Given the description of an element on the screen output the (x, y) to click on. 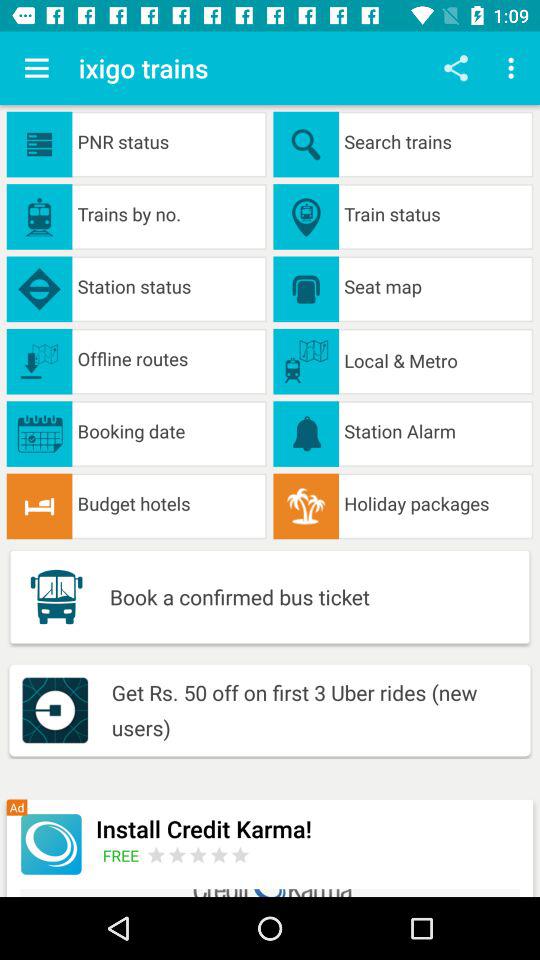
advertisement icon (50, 844)
